Given the description of an element on the screen output the (x, y) to click on. 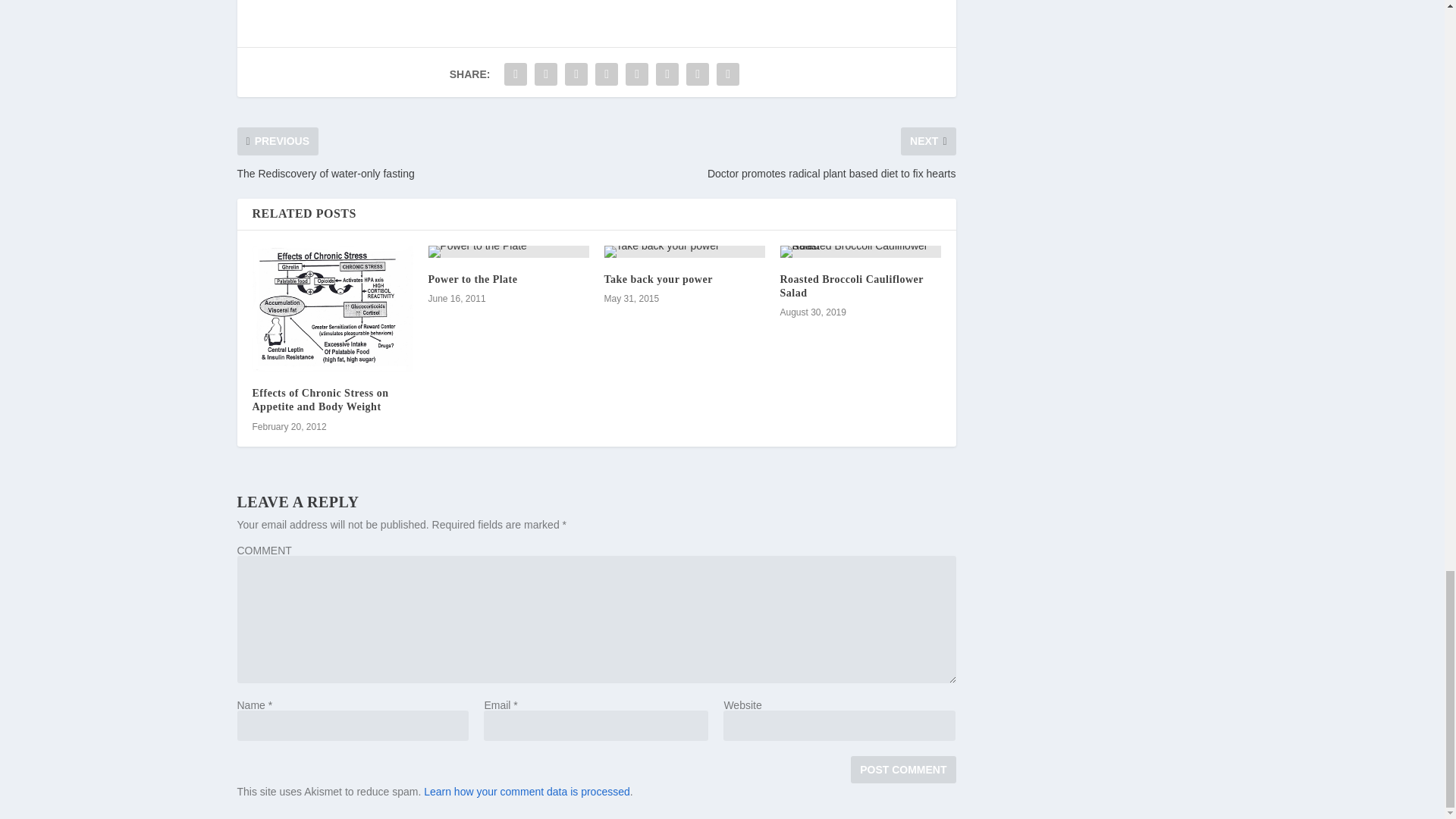
Post Comment (902, 768)
Share "Solution for lacking motivation" via Facebook (515, 73)
Share "Solution for lacking motivation" via Twitter (545, 73)
Share "Solution for lacking motivation" via Tumblr (606, 73)
